Given the description of an element on the screen output the (x, y) to click on. 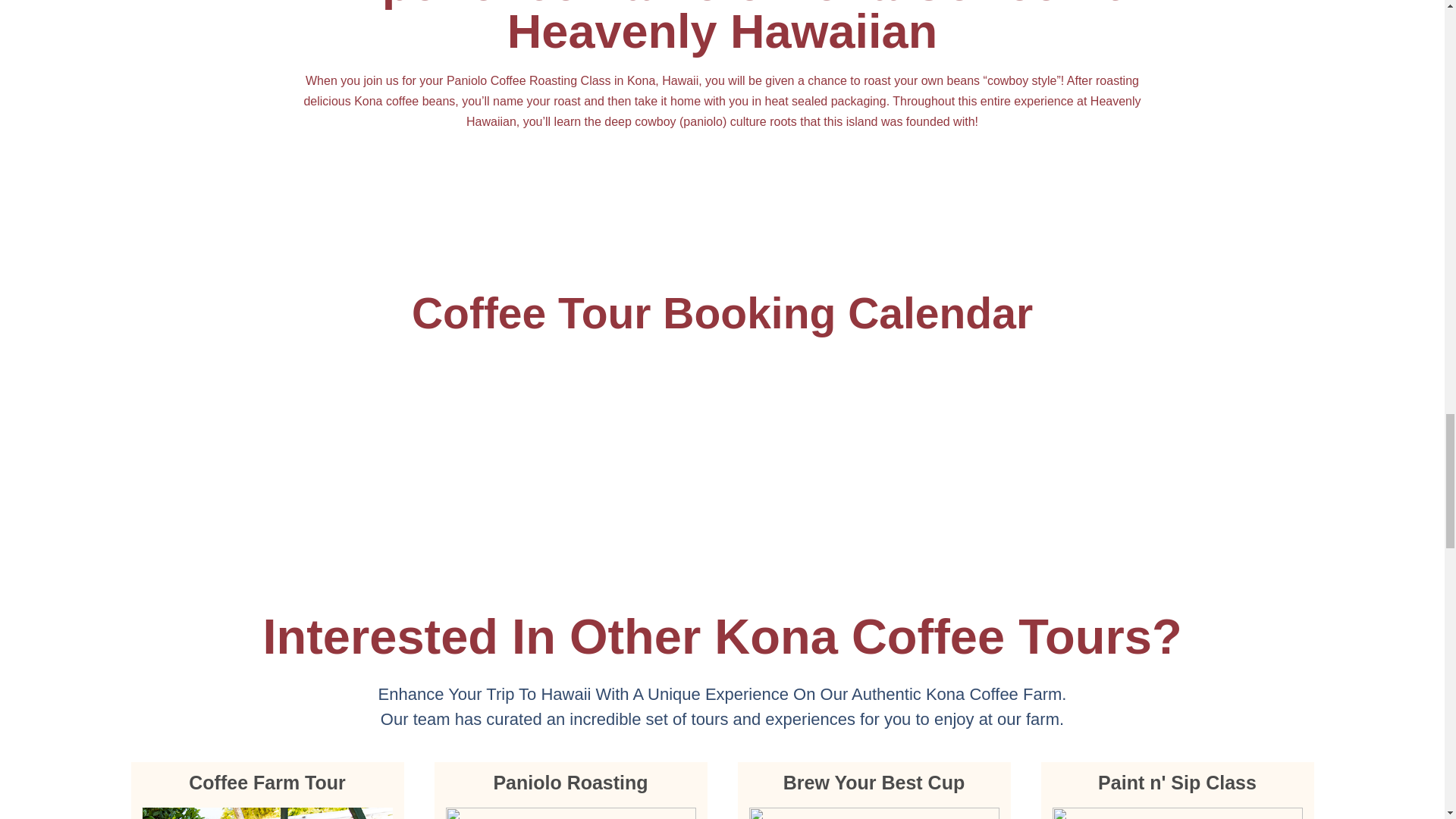
FareHarbor (722, 387)
